Given the description of an element on the screen output the (x, y) to click on. 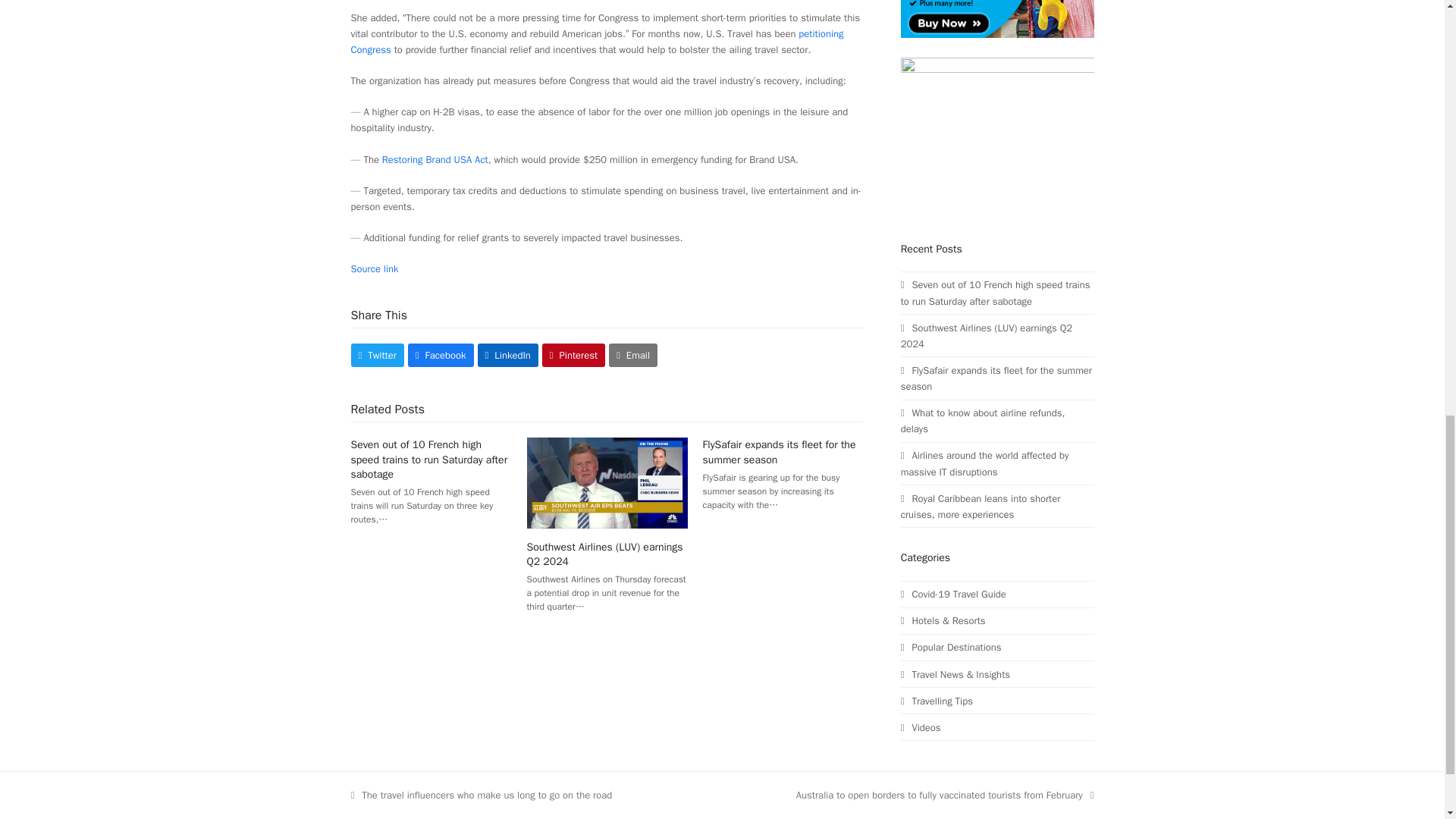
Source link (373, 268)
LinkedIn (507, 354)
Twitter (376, 354)
petitioning Congress (596, 41)
Restoring Brand USA Act (434, 159)
FlySafair expands its fleet for the summer season (779, 452)
Email (633, 354)
Facebook (440, 354)
Pinterest (573, 354)
